Given the description of an element on the screen output the (x, y) to click on. 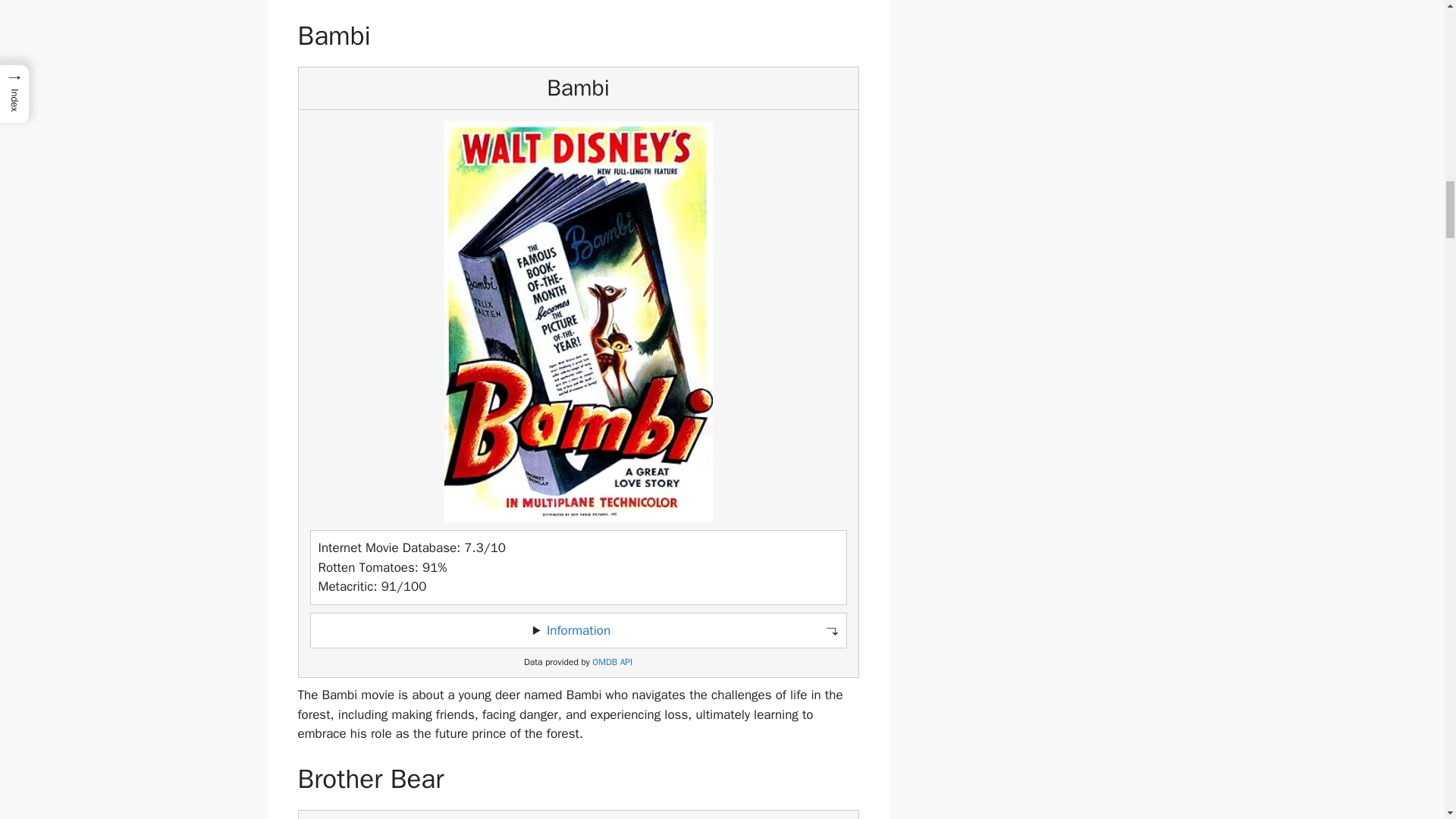
OMDB API (611, 662)
Open Movie Database API (611, 662)
Information (578, 630)
Toggle information (578, 630)
